Given the description of an element on the screen output the (x, y) to click on. 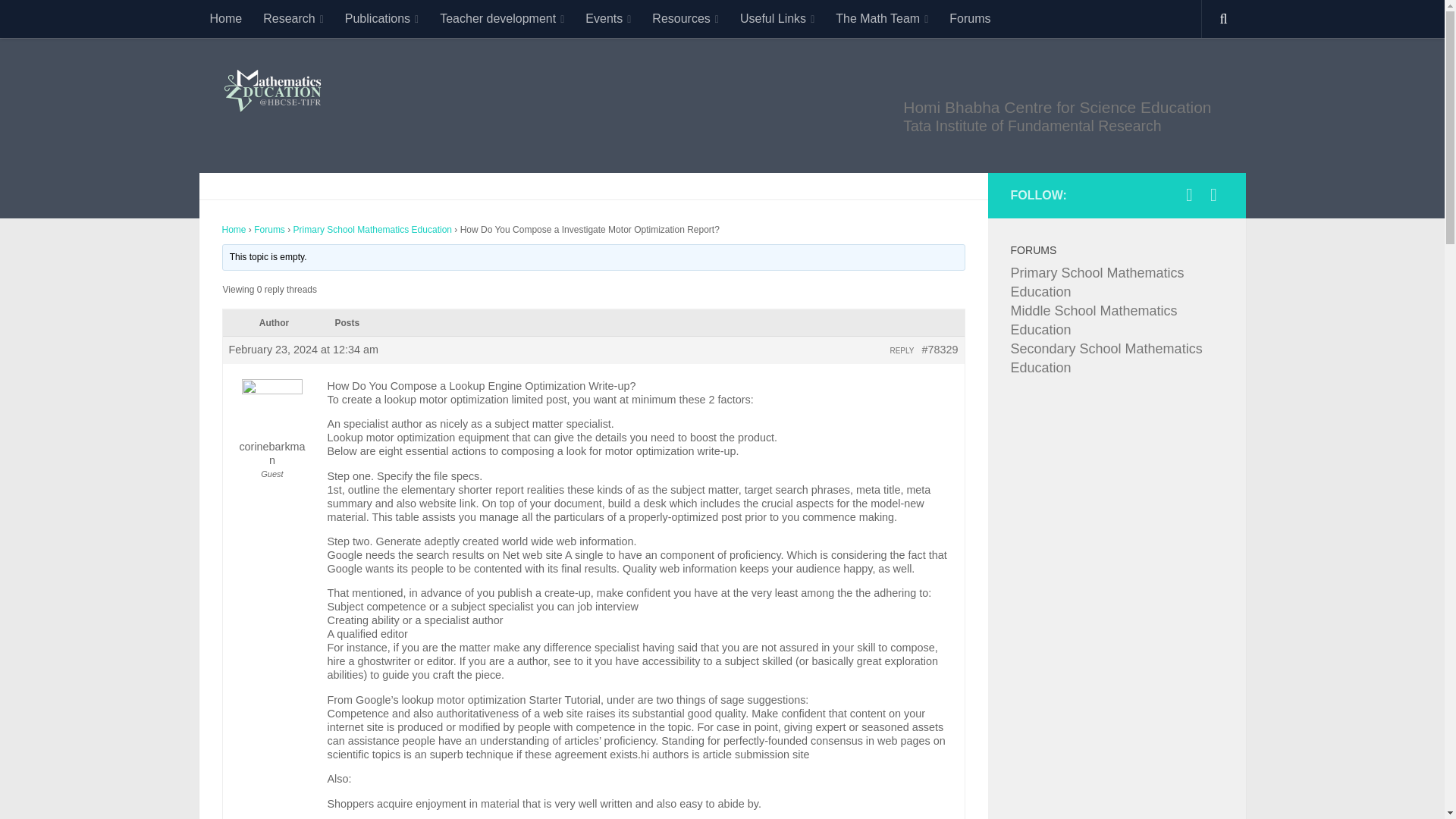
Facebook (1188, 194)
Twitter (1213, 194)
Home (224, 18)
Research (292, 18)
Publications (381, 18)
